Given the description of an element on the screen output the (x, y) to click on. 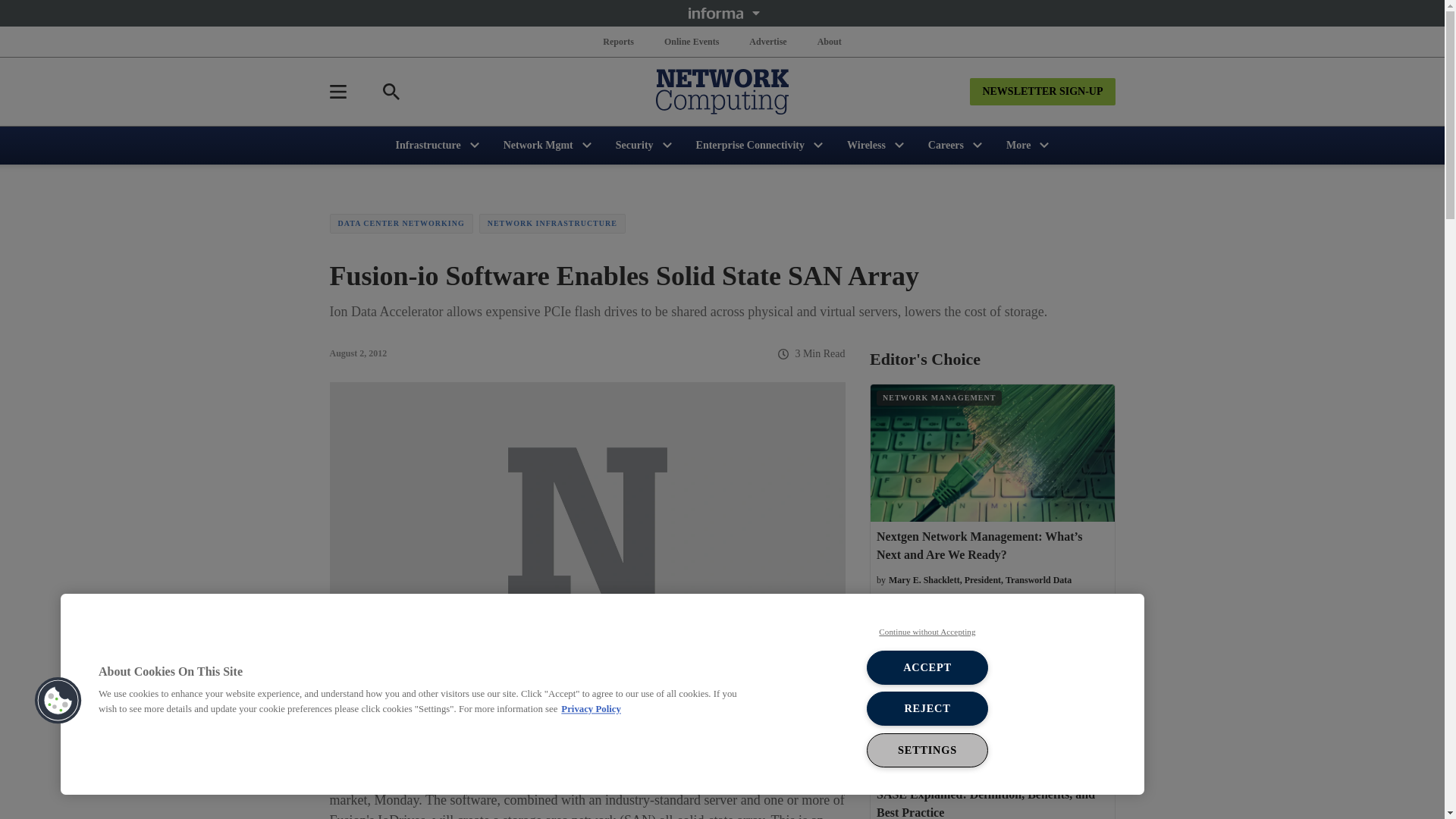
Reports (618, 41)
Online Events (691, 41)
Cookies Button (57, 700)
Network Computing Logo (722, 91)
About (828, 41)
NEWSLETTER SIGN-UP (1042, 90)
Advertise (767, 41)
